Given the description of an element on the screen output the (x, y) to click on. 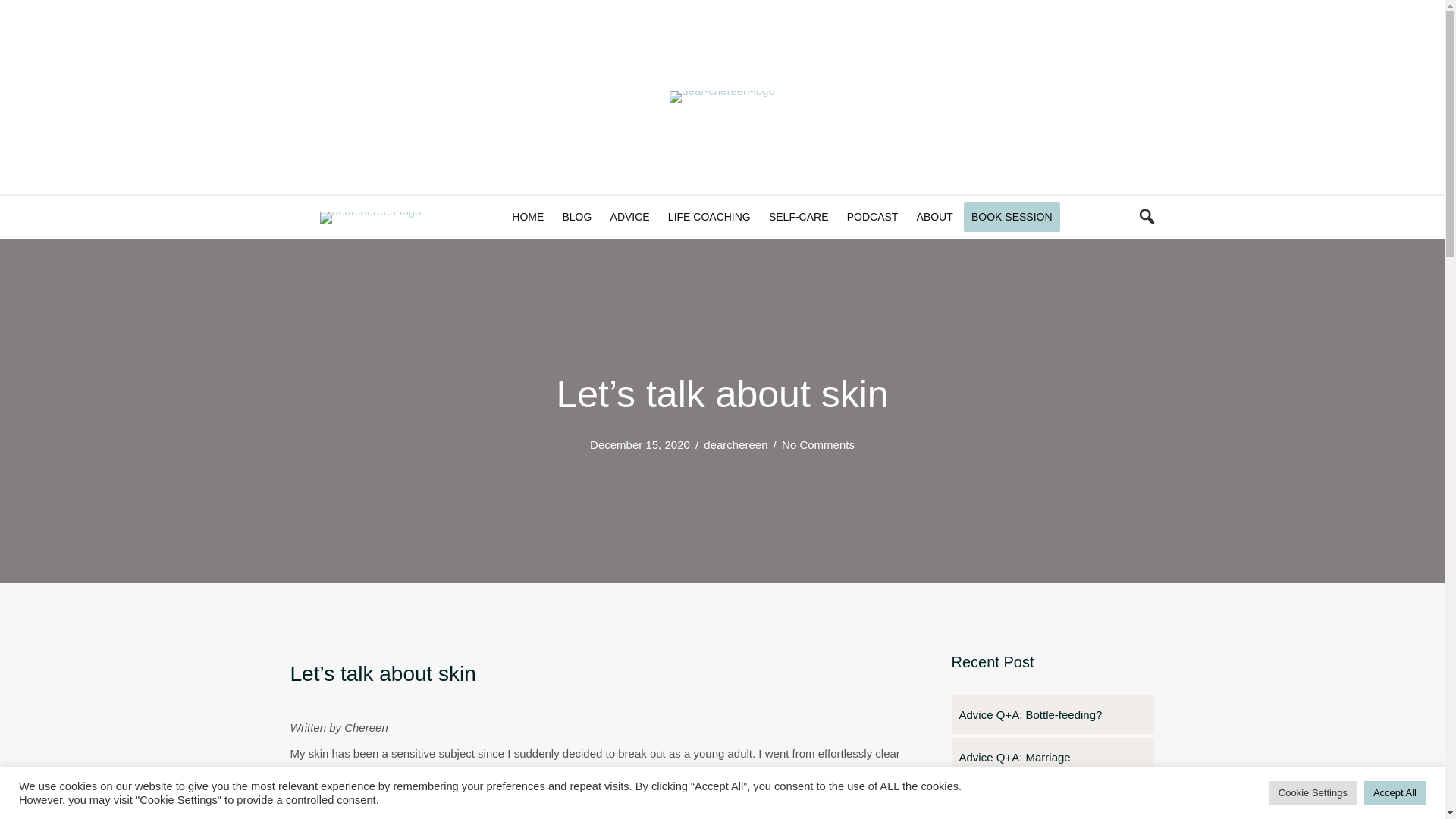
dearchereen-logo (371, 216)
SELF-CARE (798, 216)
ADVICE (630, 216)
dear-chereen-logo (721, 96)
PODCAST (872, 216)
BOOK SESSION (1011, 216)
BLOG (576, 216)
HOME (527, 216)
ABOUT (934, 216)
LIFE COACHING (709, 216)
